Given the description of an element on the screen output the (x, y) to click on. 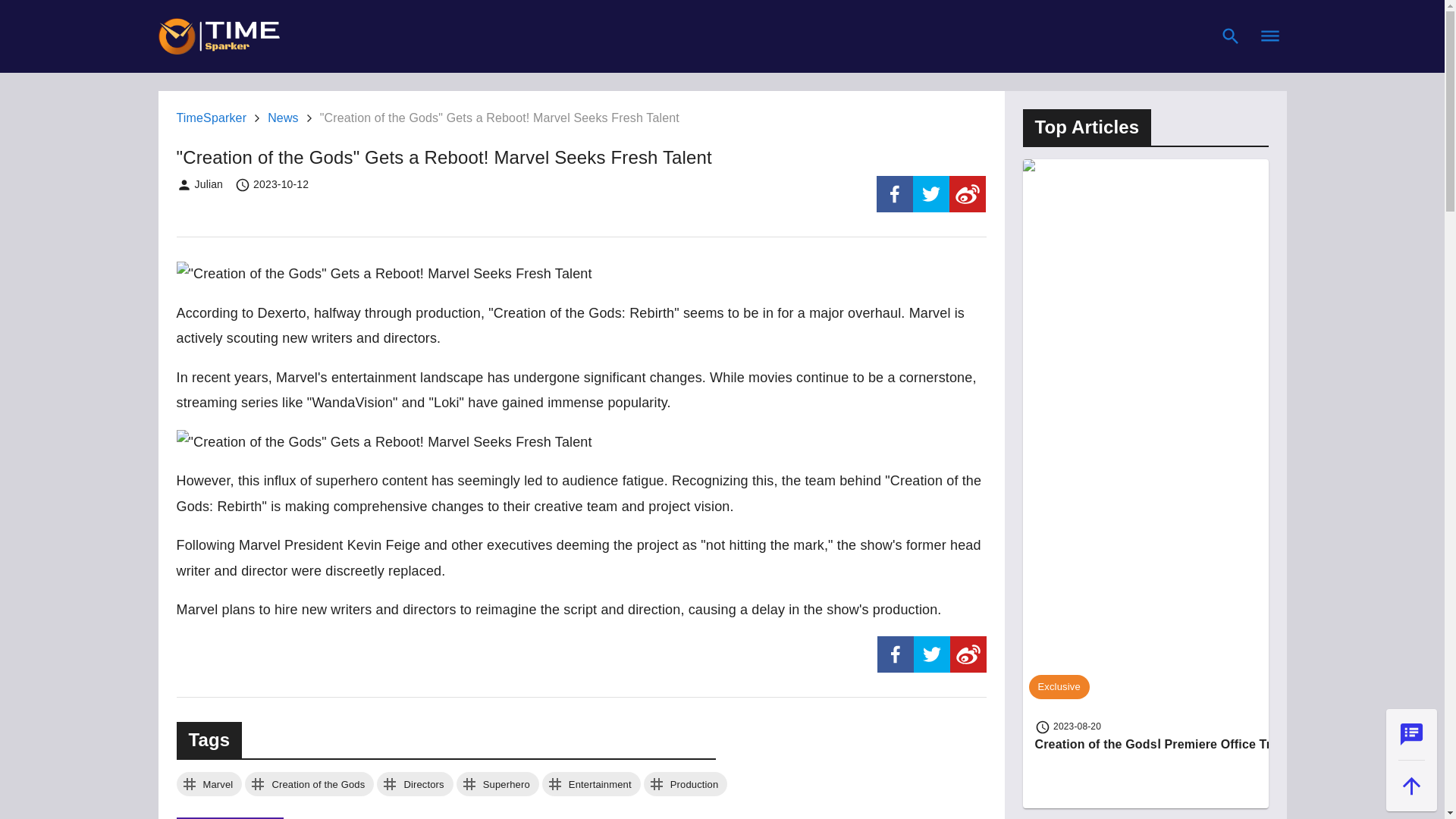
To Page Top (1411, 786)
News (282, 117)
Discussion (1411, 734)
Entertainment (590, 784)
TimeSparker (211, 117)
Production (685, 784)
Directors (414, 784)
Marvel (208, 784)
Creation of the Gods (309, 784)
Superhero (497, 784)
